Given the description of an element on the screen output the (x, y) to click on. 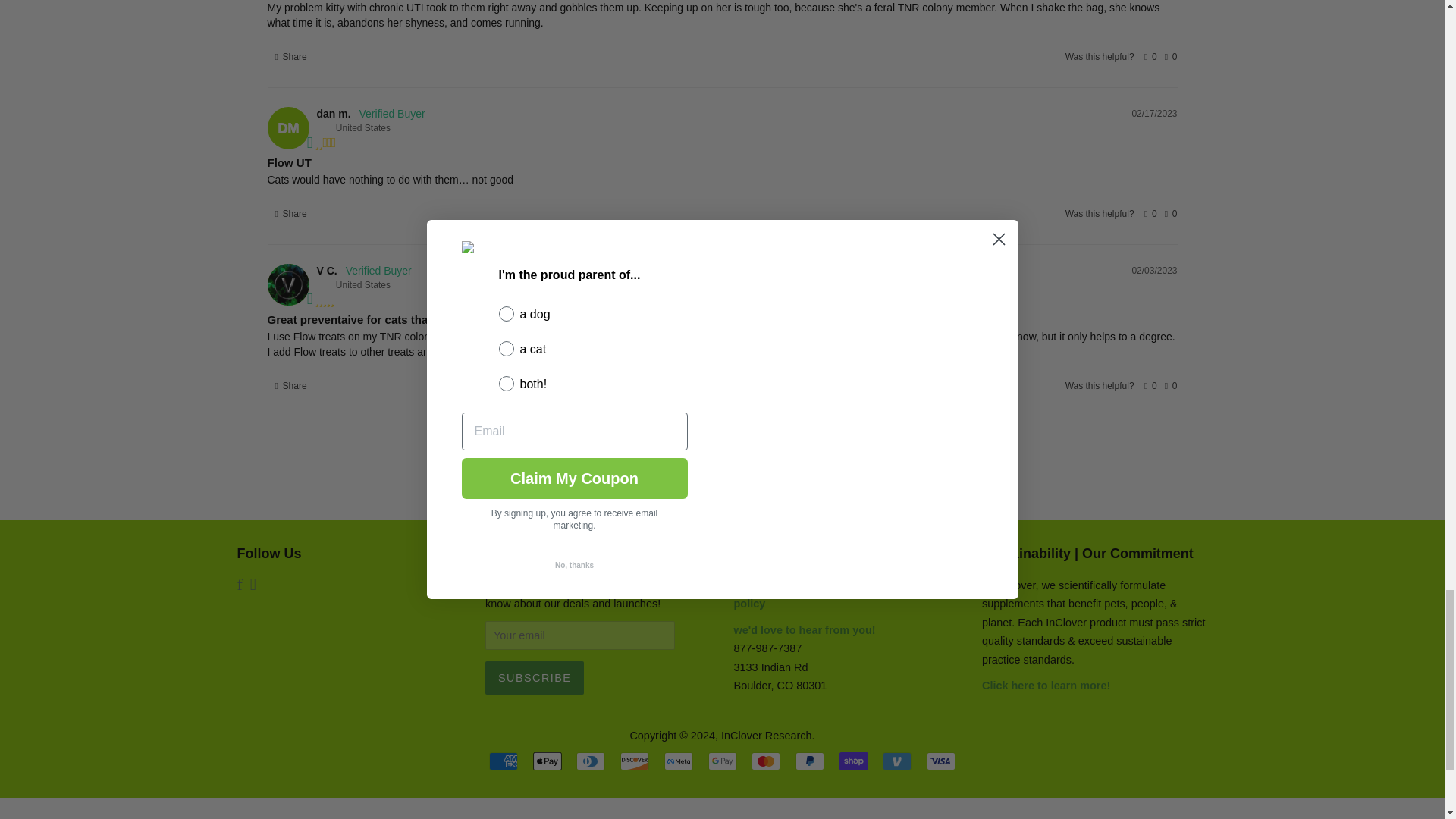
Google Pay (721, 761)
Mastercard (765, 761)
Venmo (896, 761)
InClover Research on Instagram (253, 585)
Discover (634, 761)
Shop Pay (853, 761)
Apple Pay (547, 761)
InClover Research on Facebook (238, 585)
Diners Club (590, 761)
Meta Pay (678, 761)
PayPal (809, 761)
Visa (940, 761)
Subscribe (533, 677)
American Express (503, 761)
